Given the description of an element on the screen output the (x, y) to click on. 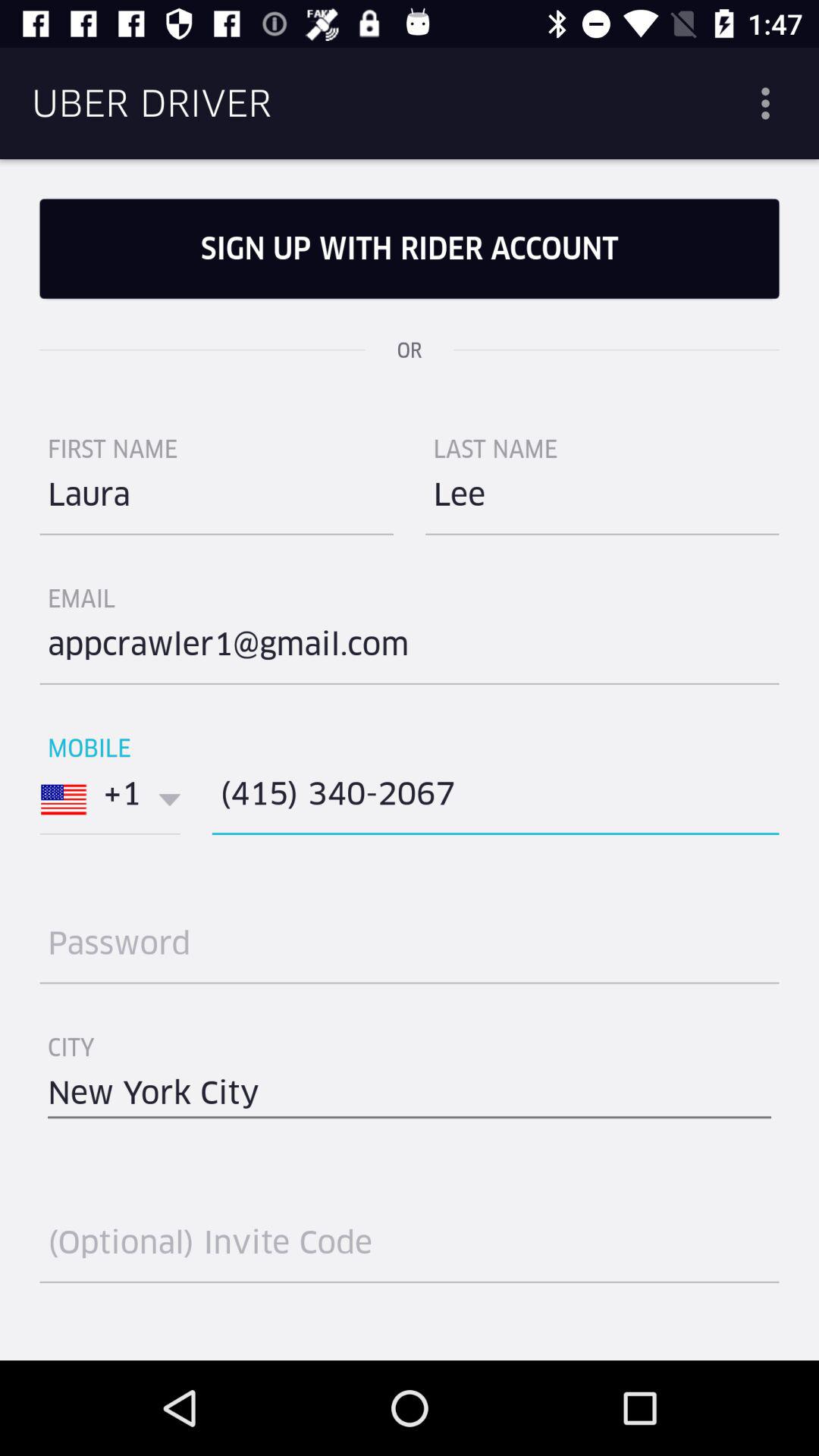
password (409, 949)
